Given the description of an element on the screen output the (x, y) to click on. 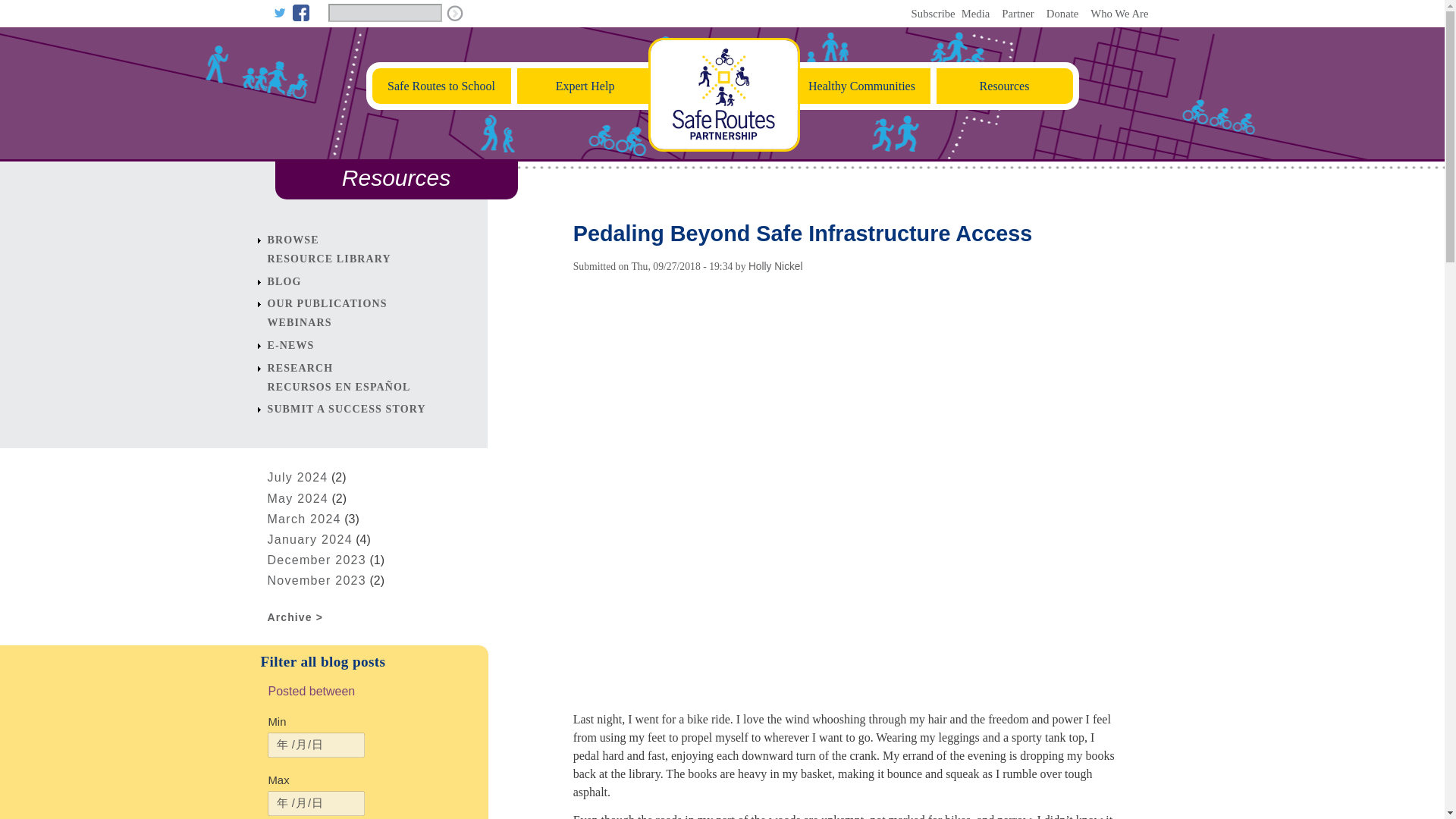
Who We Are (1119, 13)
Donate (1062, 13)
Media (975, 13)
Home (723, 146)
Expert Help (583, 85)
Partner (1018, 13)
Subscribe (930, 13)
Search (454, 13)
Safe Routes to School (439, 85)
